Given the description of an element on the screen output the (x, y) to click on. 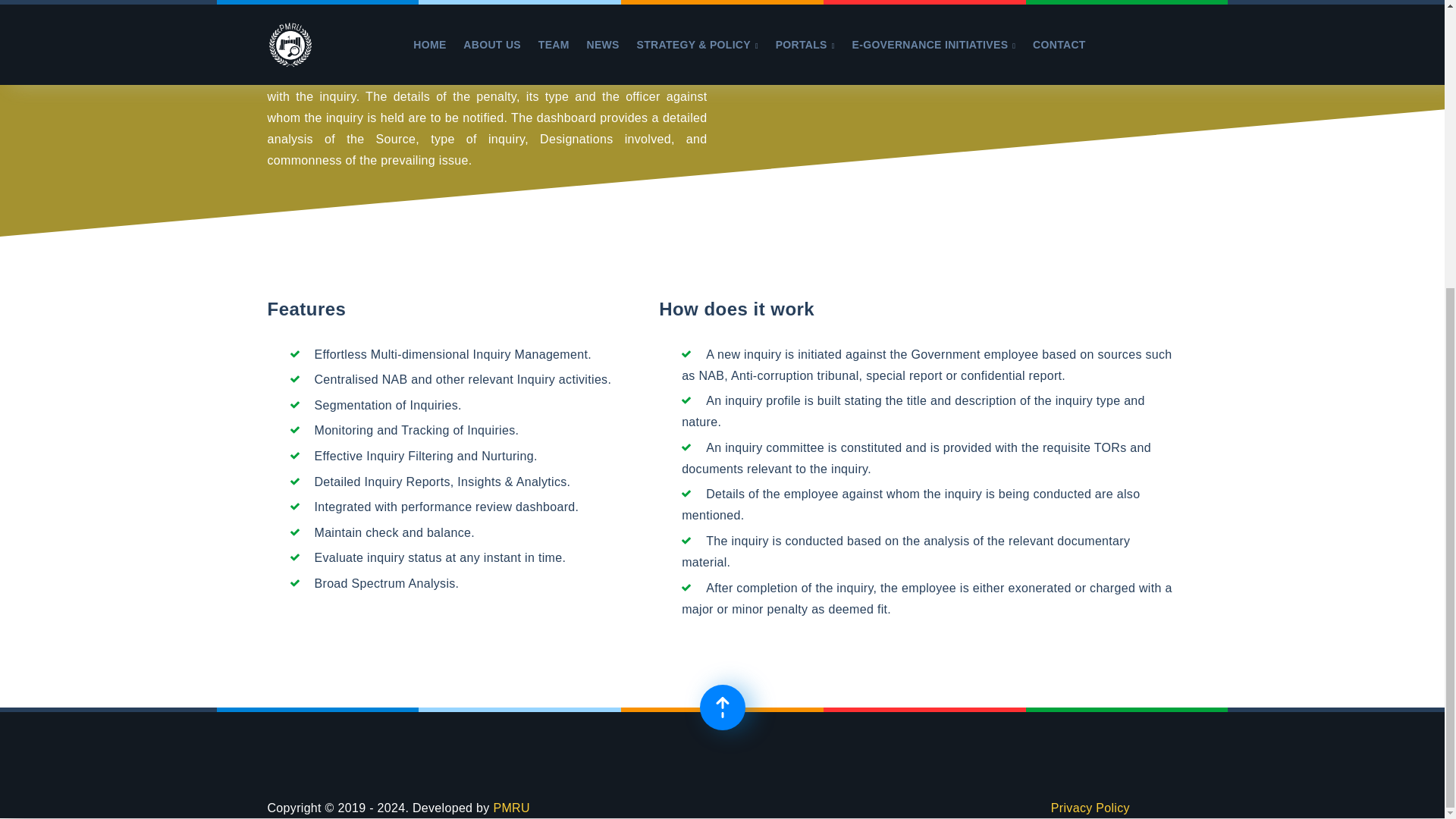
PMRU (511, 807)
Privacy Policy (1090, 807)
